Given the description of an element on the screen output the (x, y) to click on. 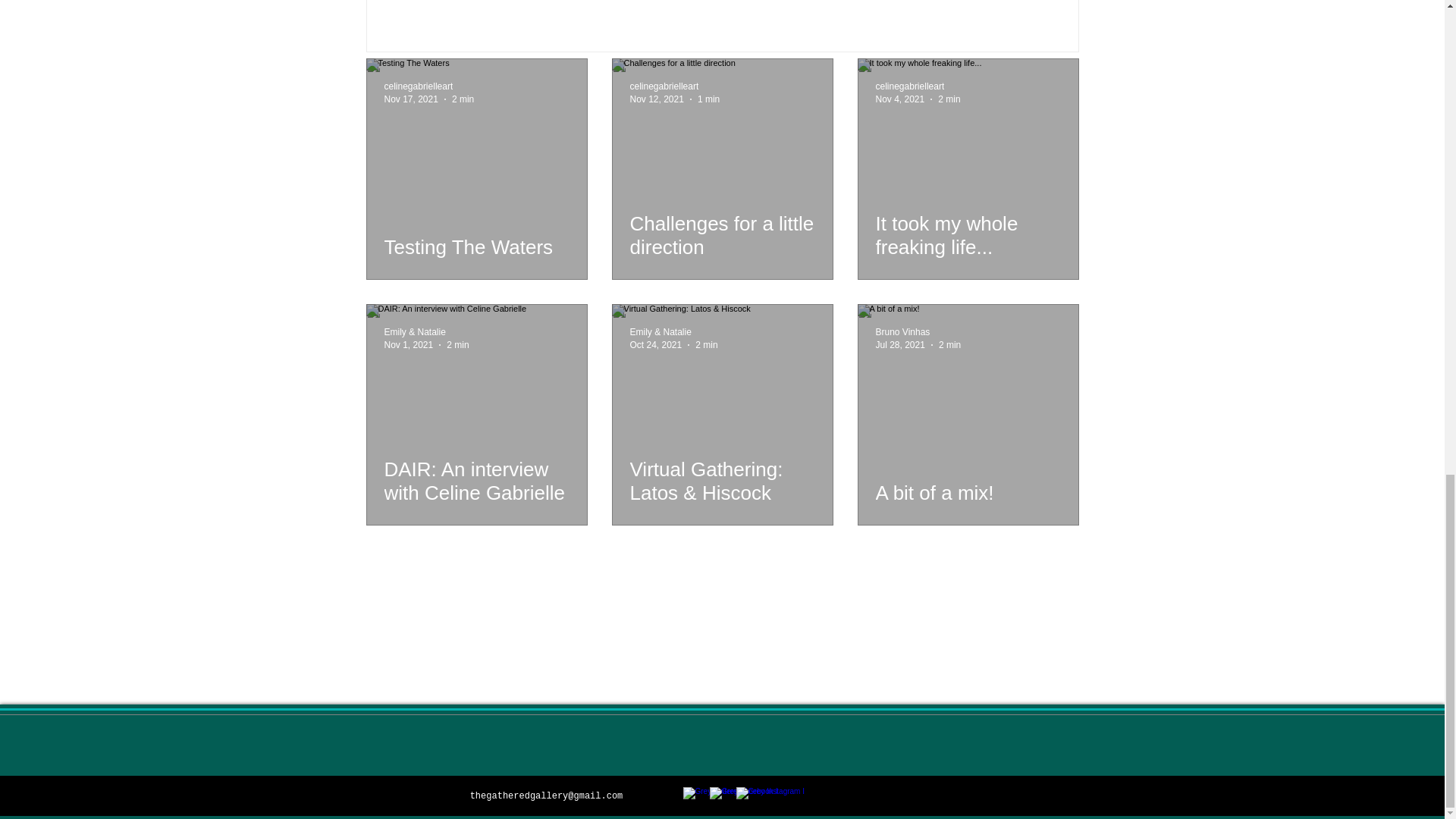
Bruno Vinhas (917, 332)
2 min (948, 98)
celinegabrielleart (917, 86)
1 min (708, 98)
Nov 1, 2021 (408, 344)
DAIR: An interview with Celine Gabrielle (476, 481)
2 min (706, 344)
celinegabrielleart (909, 86)
Oct 24, 2021 (654, 344)
celinegabrielleart (418, 86)
2 min (462, 98)
2 min (457, 344)
A bit of a mix! (967, 492)
Challenges for a little direction (720, 235)
Nov 12, 2021 (655, 98)
